Given the description of an element on the screen output the (x, y) to click on. 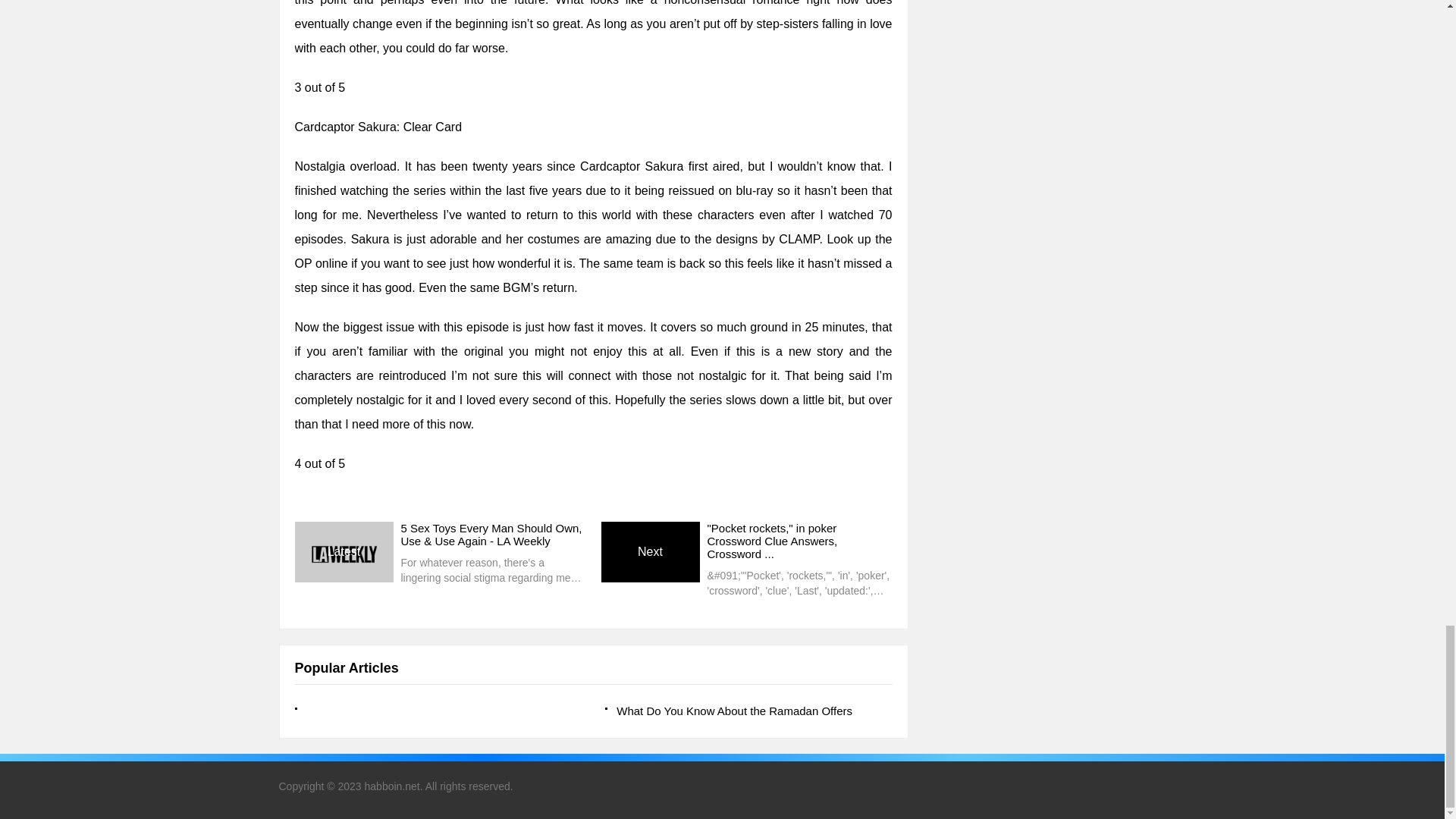
What Do You Know About the Ramadan Offers (748, 711)
What Do You Know About the Ramadan Offers (748, 711)
